Given the description of an element on the screen output the (x, y) to click on. 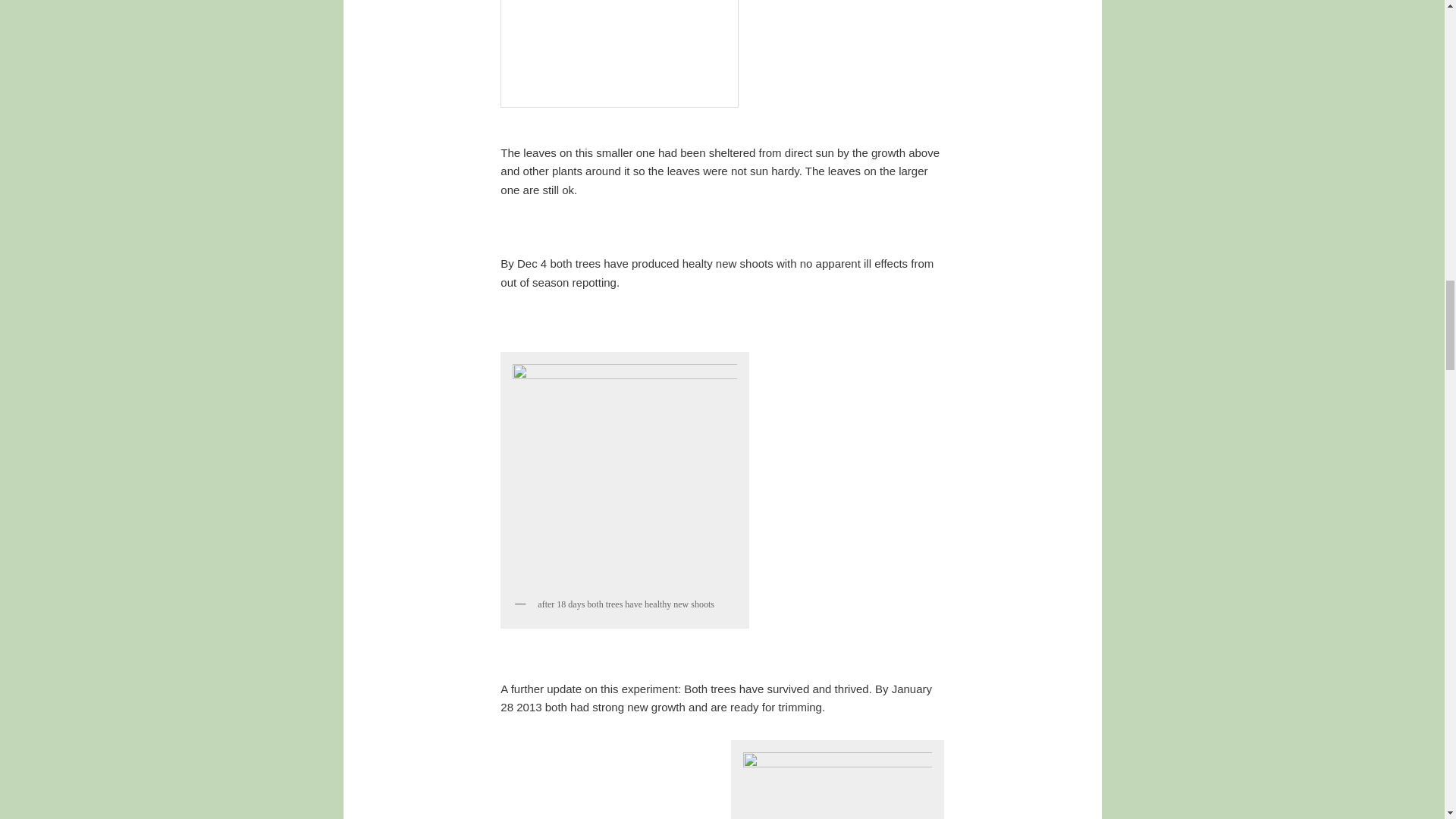
trident 2 burnt leaves (619, 53)
repot trident summer (837, 782)
4-12-12 (624, 473)
